Given the description of an element on the screen output the (x, y) to click on. 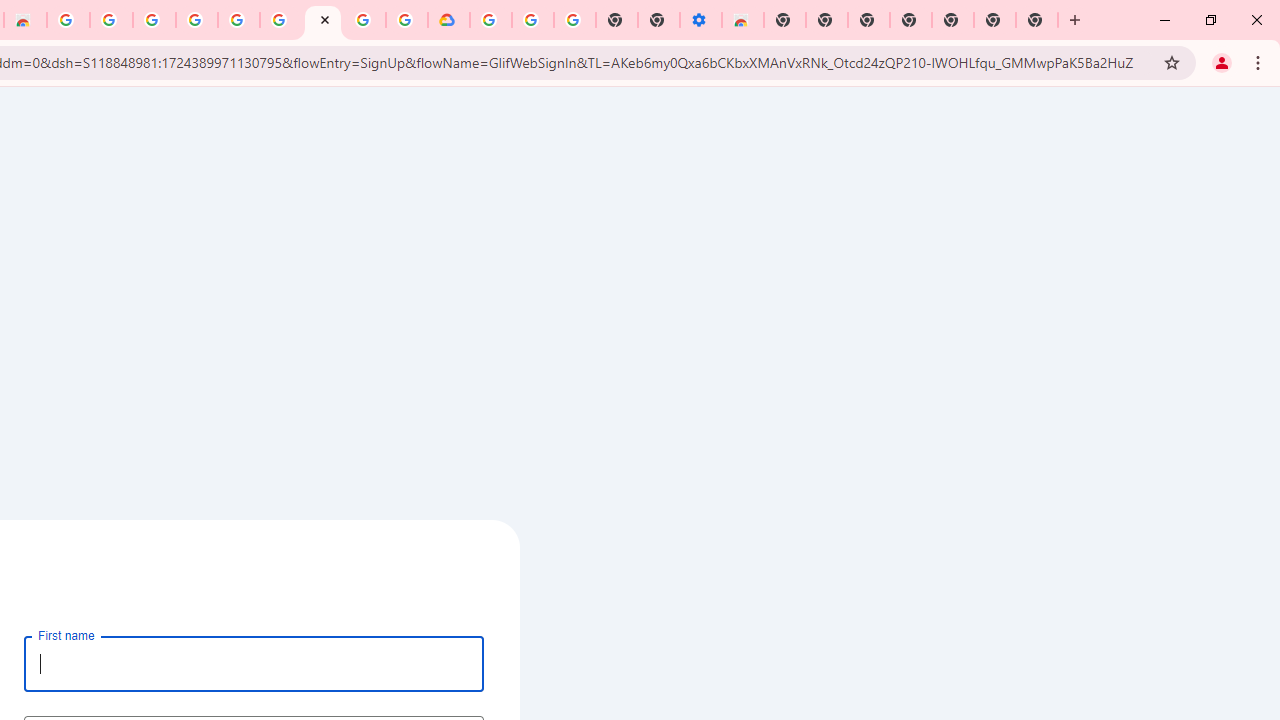
Ad Settings (154, 20)
New Tab (785, 20)
Sign in - Google Accounts (365, 20)
Settings - Accessibility (700, 20)
New Tab (1037, 20)
Create your Google Account (323, 20)
Google Account Help (533, 20)
